Given the description of an element on the screen output the (x, y) to click on. 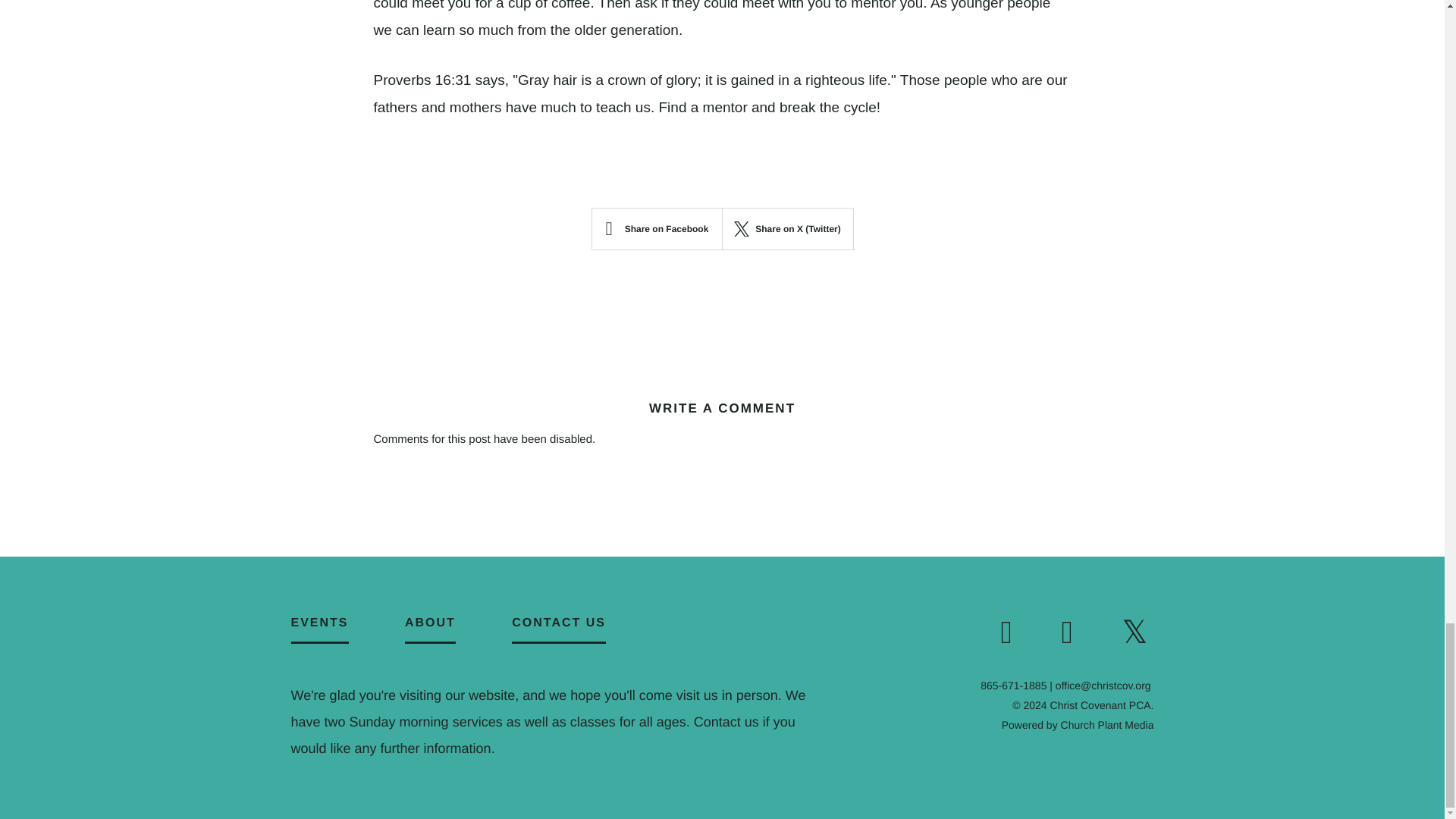
twitter (1137, 633)
facebook (1077, 633)
instagram (1016, 633)
